Given the description of an element on the screen output the (x, y) to click on. 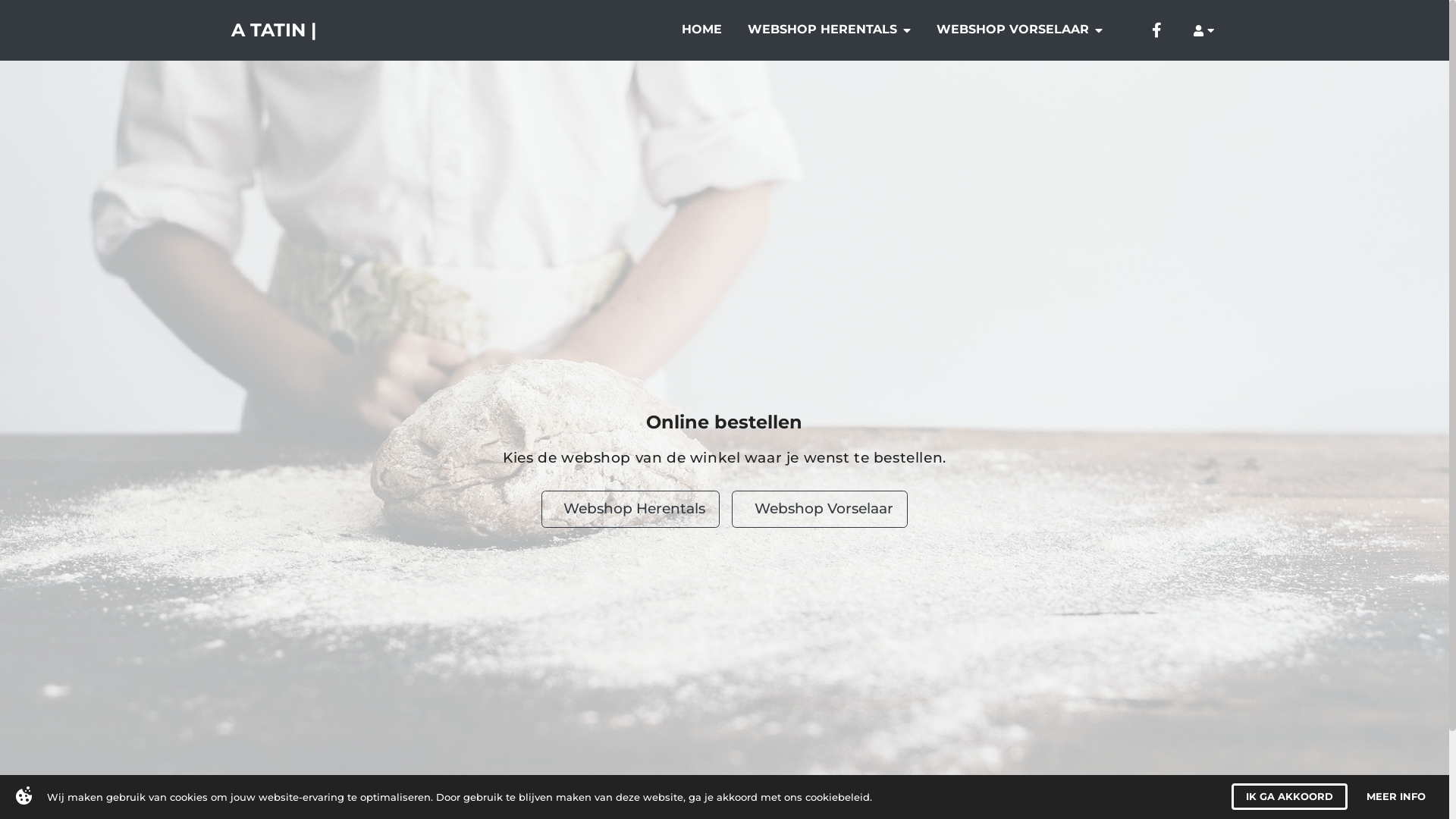
MEER INFO Element type: text (1402, 796)
WEBSHOP HERENTALS Element type: text (832, 30)
IK GA AKKOORD Element type: text (1296, 796)
A TATIN | Element type: text (276, 30)
HOME Element type: text (705, 30)
WEBSHOP VORSELAAR Element type: text (1023, 30)
